Given the description of an element on the screen output the (x, y) to click on. 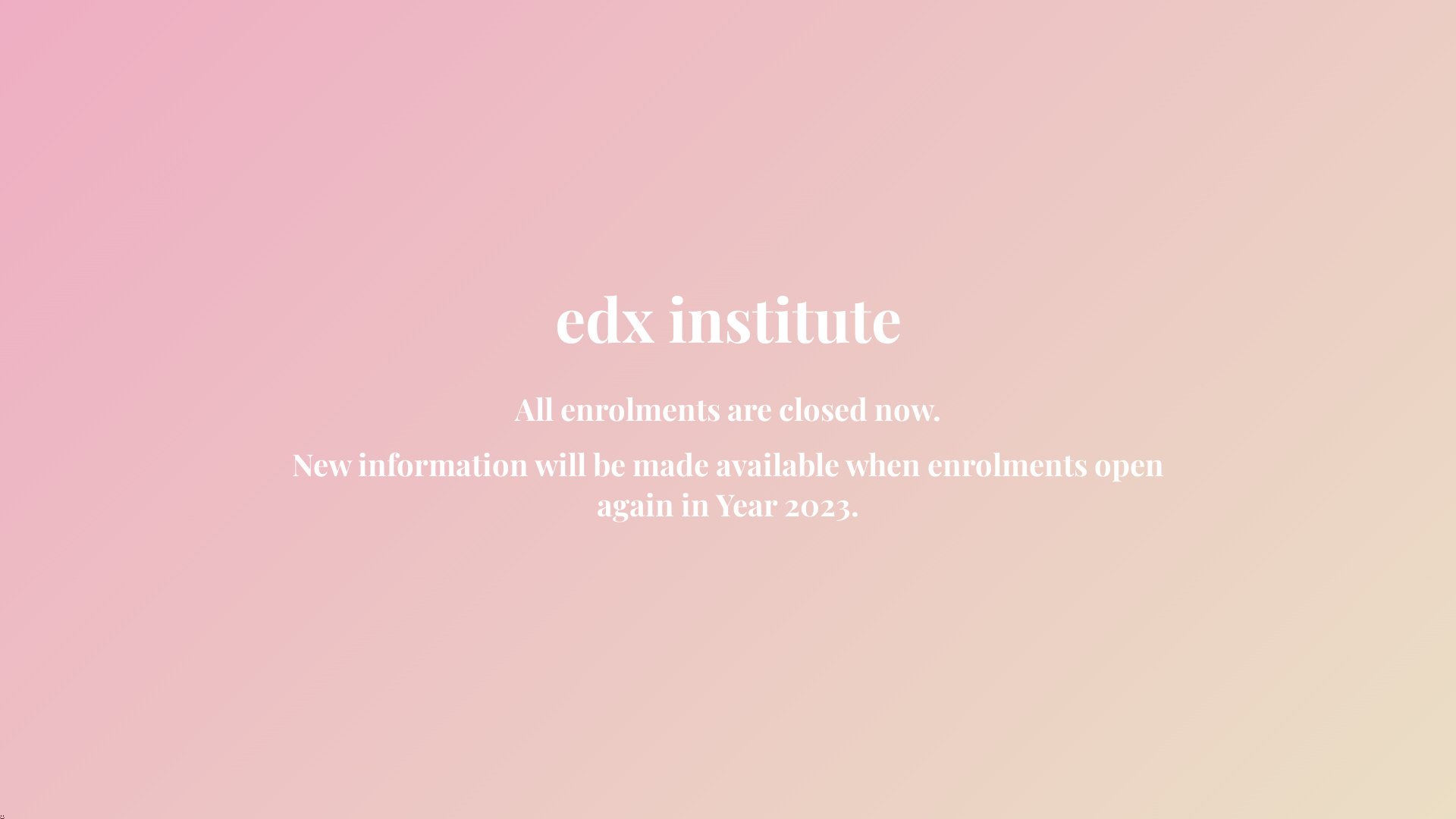
edx institute Element type: text (728, 330)
